Given the description of an element on the screen output the (x, y) to click on. 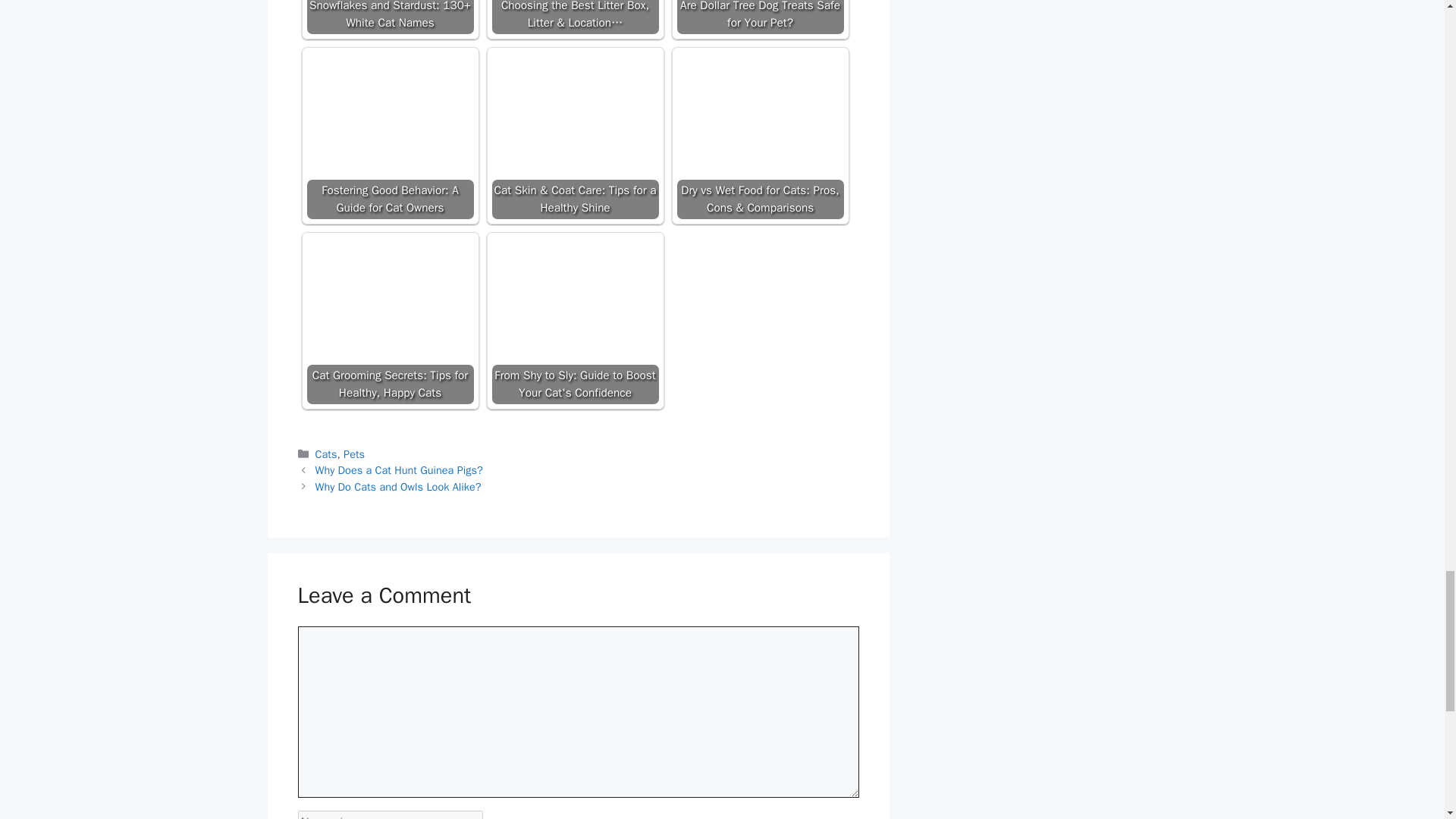
Fostering Good Behavior: A Guide for Cat Owners (389, 107)
From Shy to Sly: Guide to Boost Your Cat's Confidence (575, 292)
Cat Grooming Secrets: Tips for Healthy, Happy Cats (389, 292)
